Given the description of an element on the screen output the (x, y) to click on. 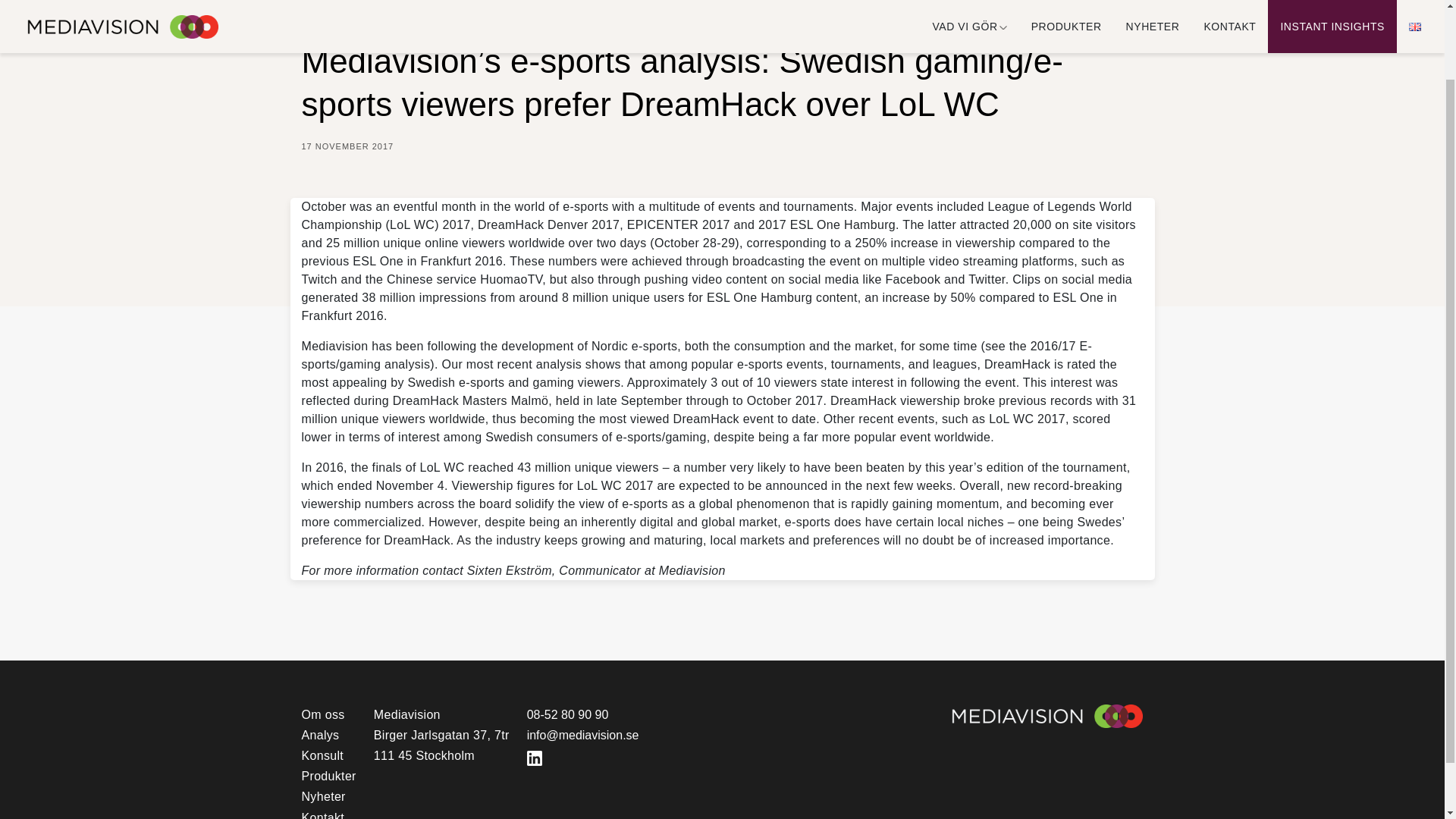
43 million (543, 467)
Nyheter (323, 796)
08-52 80 90 90 (583, 714)
Analys (320, 735)
Om oss (323, 714)
Produkter (328, 775)
most viewed (633, 418)
Konsult (322, 755)
20,000 (1032, 224)
